Given the description of an element on the screen output the (x, y) to click on. 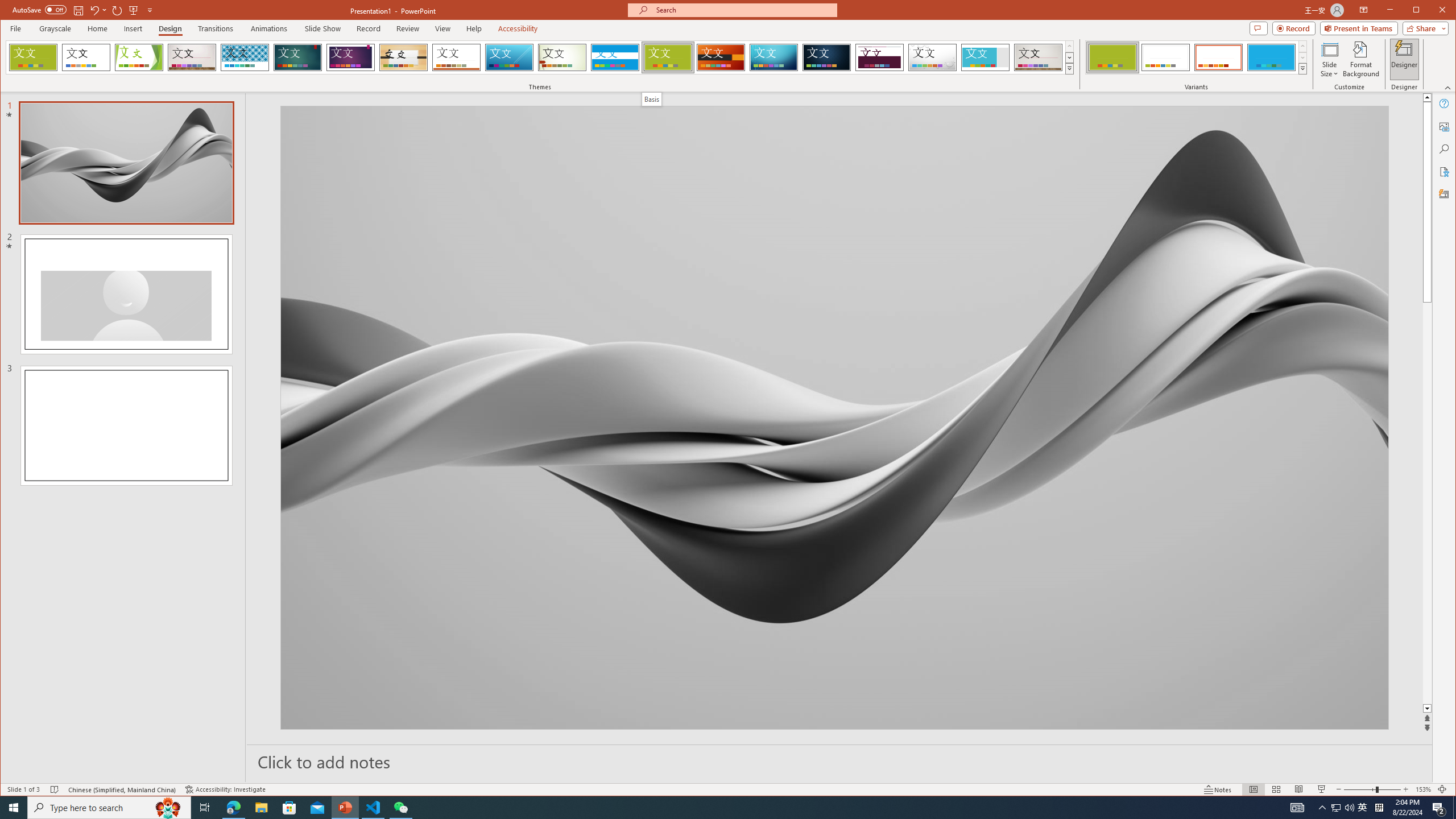
Berlin (720, 57)
Ion Boardroom (350, 57)
Basis (652, 98)
